Given the description of an element on the screen output the (x, y) to click on. 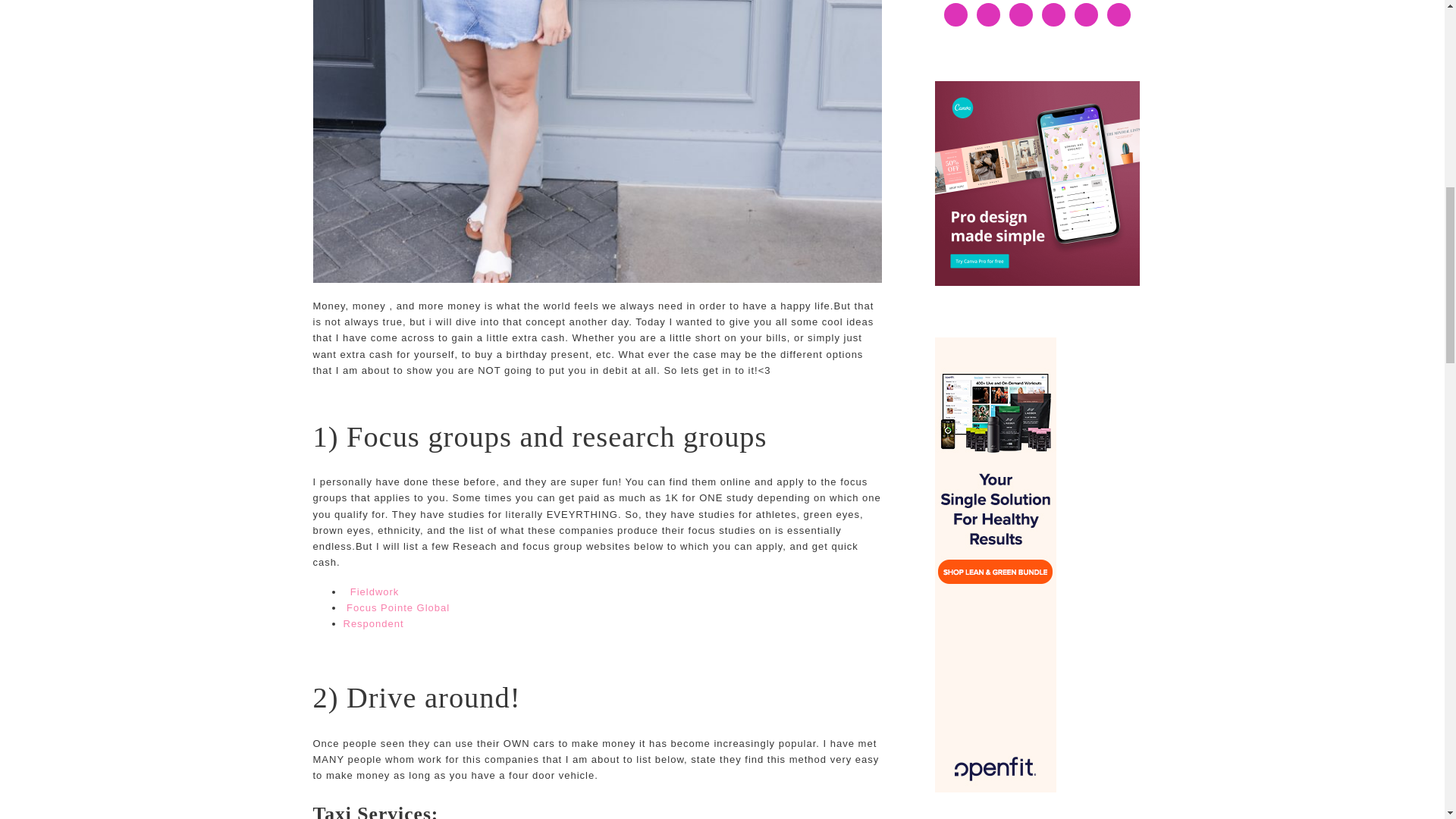
Fieldwork  (376, 591)
Respondent (372, 623)
 Focus Pointe Global (395, 607)
